Given the description of an element on the screen output the (x, y) to click on. 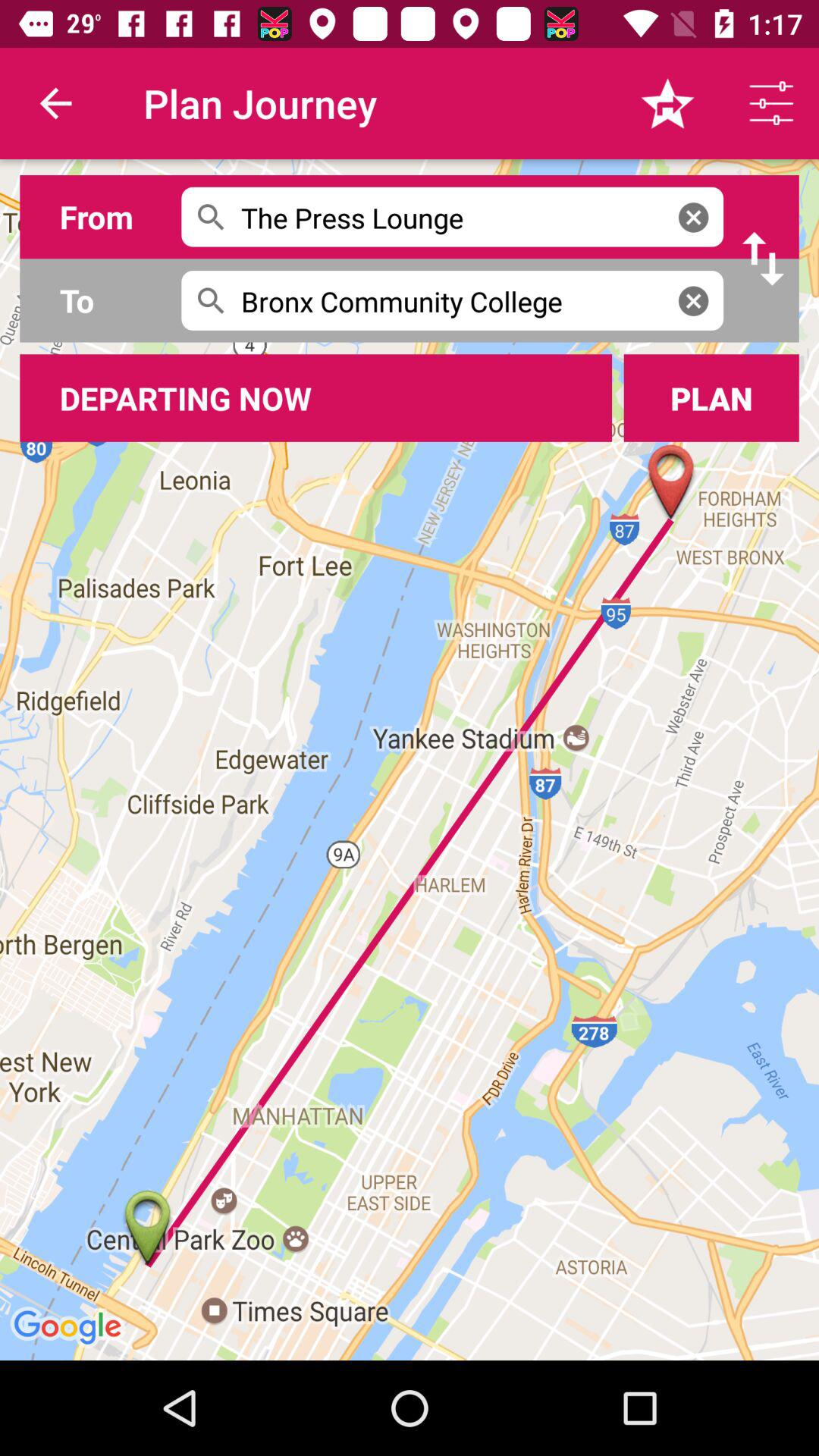
click on button right to departing now (711, 397)
click on google at left bottom corner (69, 1328)
select the icon right to the text plan journey (667, 103)
